Given the description of an element on the screen output the (x, y) to click on. 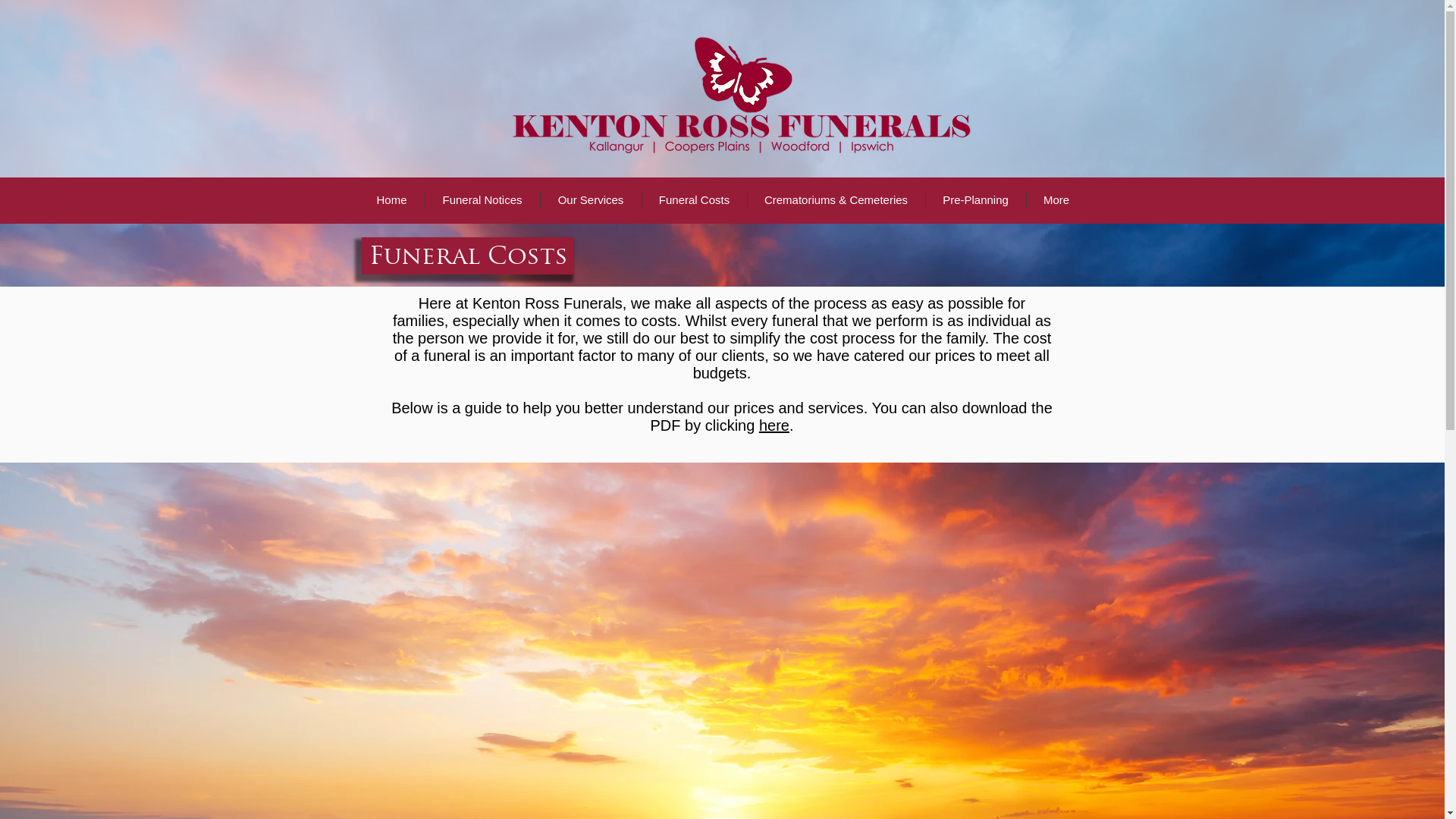
Pre-Planning Element type: text (975, 199)
Our Services Element type: text (589, 199)
Funeral Notices Element type: text (481, 199)
Funeral Costs Element type: text (693, 199)
Home Element type: text (391, 199)
here Element type: text (774, 425)
Crematoriums & Cemeteries Element type: text (836, 199)
